Given the description of an element on the screen output the (x, y) to click on. 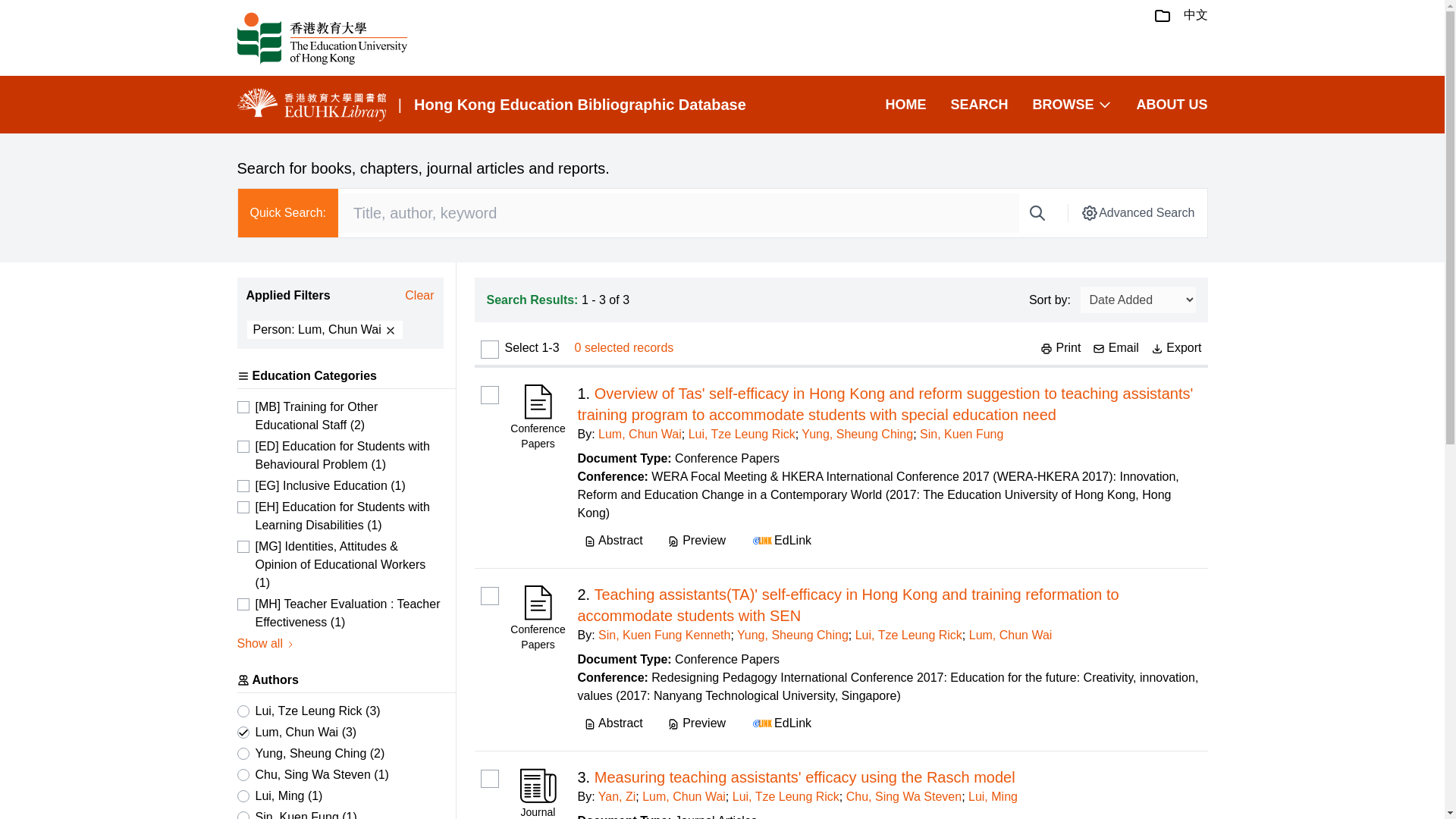
Show all (265, 643)
Advanced Search (1136, 212)
Print (1060, 348)
Yung, Sheung Ching (857, 433)
Email (1115, 348)
0 selected records (624, 348)
Lum, Chun Wai (639, 433)
HOME (905, 104)
Export (1176, 348)
Clear (418, 295)
Lui, Tze Leung Rick (741, 433)
ABOUT US (1171, 104)
BROWSE (1072, 104)
SEARCH (978, 104)
